Given the description of an element on the screen output the (x, y) to click on. 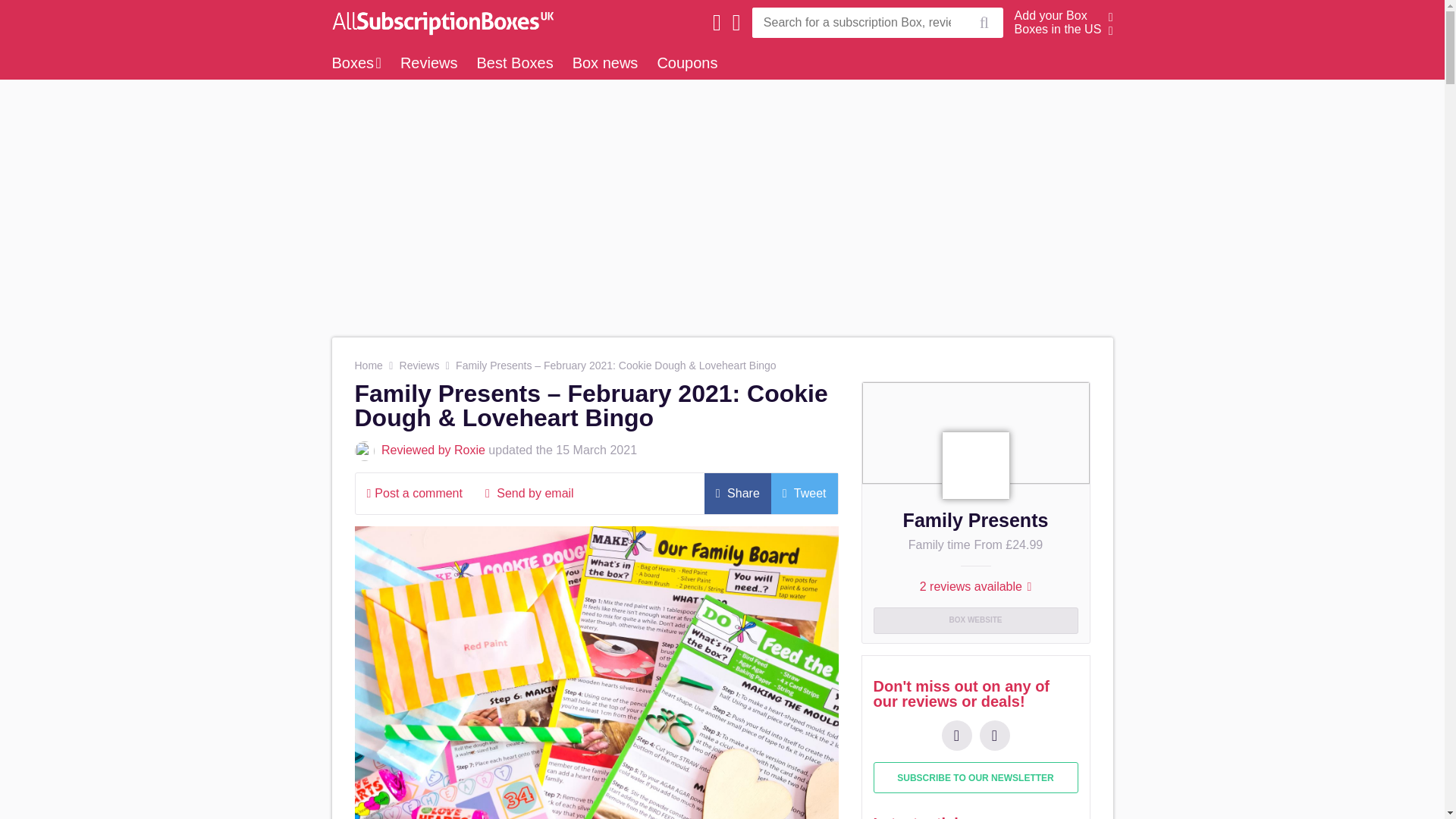
All Subscription Boxes UK (437, 22)
Add your Box (1050, 15)
Search for: (858, 22)
Boxes (356, 62)
Boxes in the US (1058, 29)
